Given the description of an element on the screen output the (x, y) to click on. 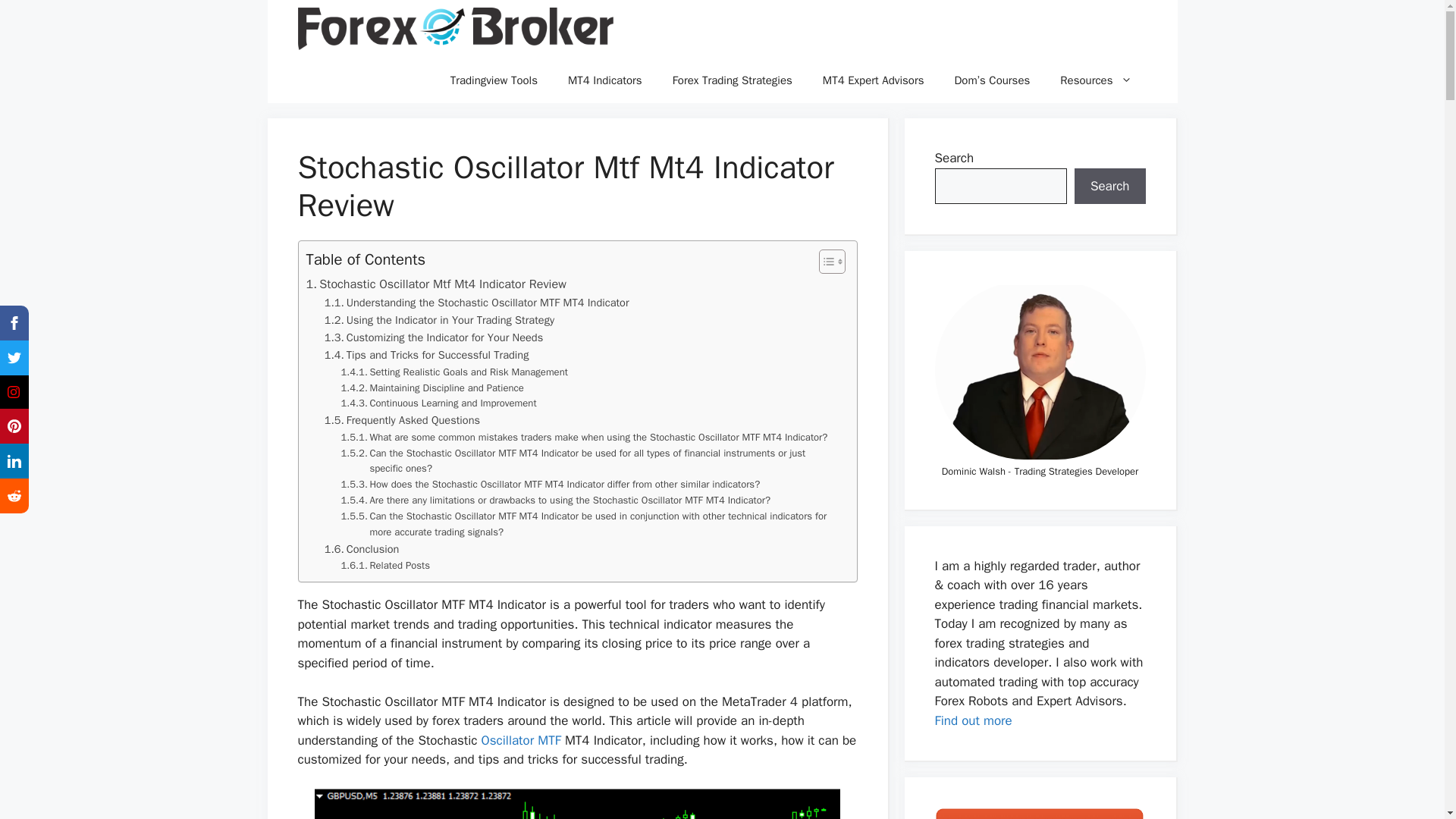
Tips and Tricks for Successful Trading (426, 354)
Customizing the Indicator for Your Needs (433, 337)
Maintaining Discipline and Patience (432, 388)
Resources (1096, 80)
Tradingview Tools (494, 80)
Setting Realistic Goals and Risk Management (453, 372)
Frequently Asked Questions (402, 420)
Continuous Learning and Improvement (438, 403)
Stochastic Oscillator Mtf Mt4 Indicator Review (435, 284)
Forex Trading Strategies (733, 80)
Setting Realistic Goals and Risk Management (453, 372)
